Given the description of an element on the screen output the (x, y) to click on. 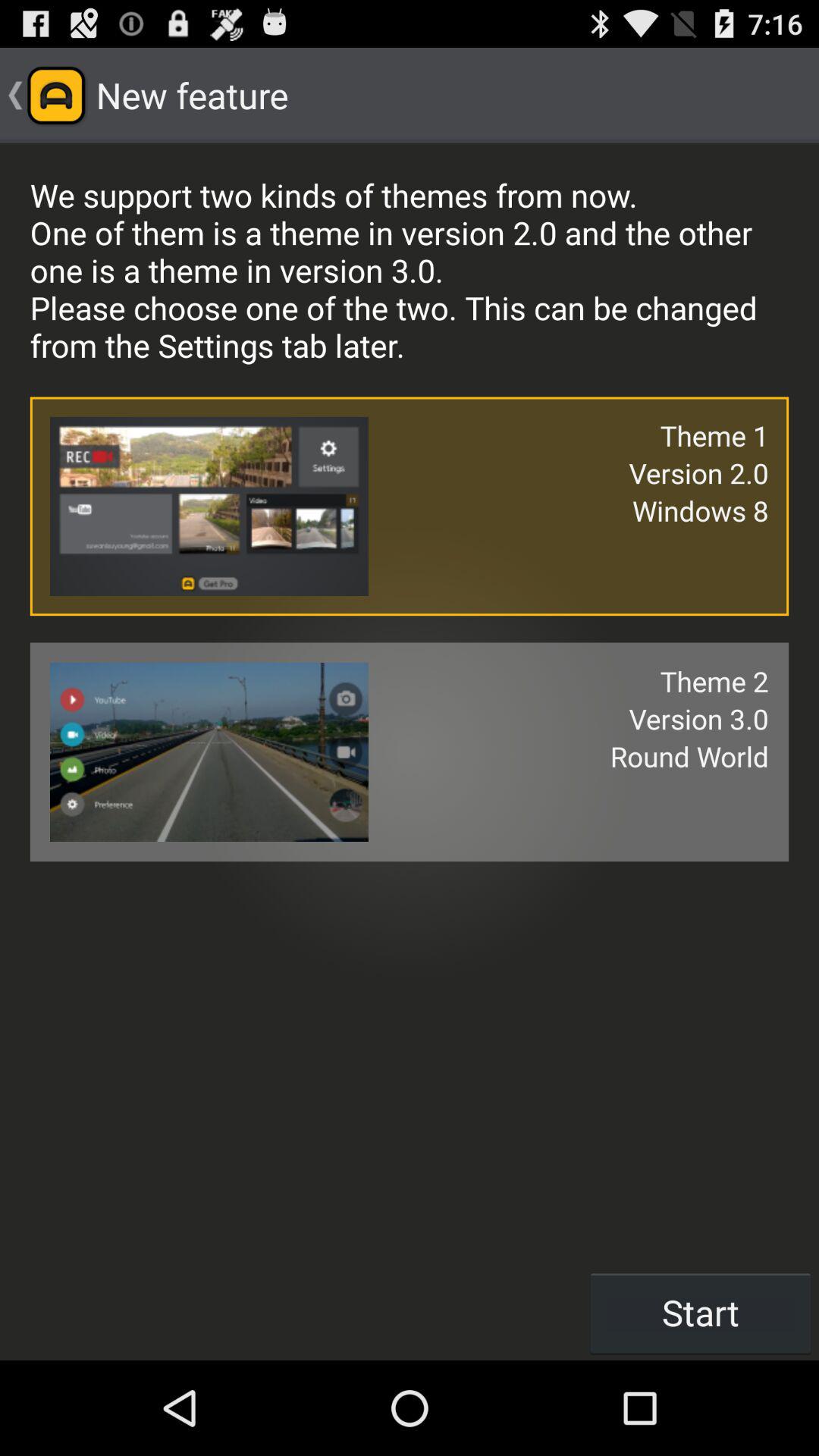
select the last image of the page (208, 751)
click on start button (700, 1312)
click on the first image (208, 505)
